Given the description of an element on the screen output the (x, y) to click on. 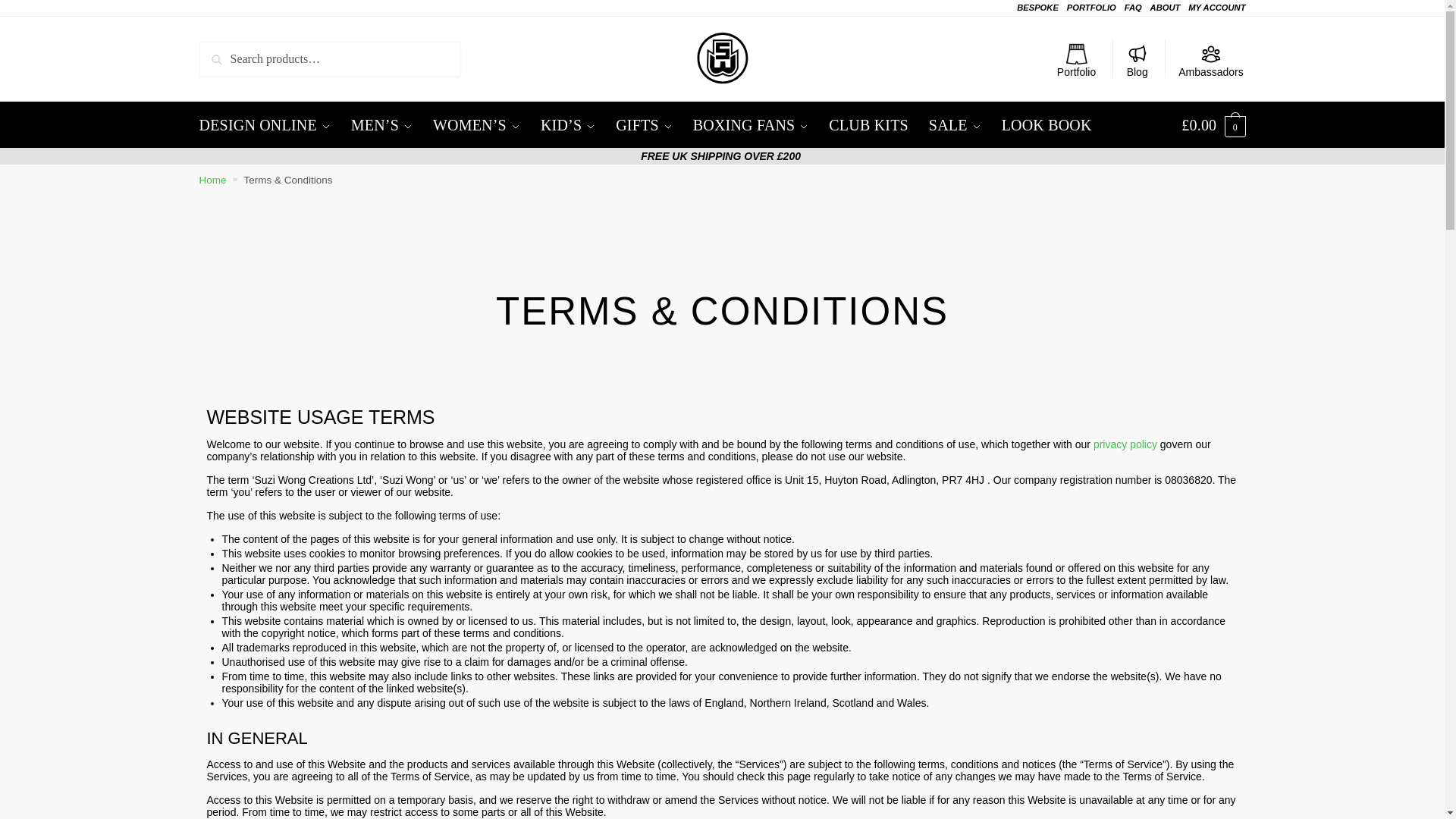
Ambassadors (1210, 58)
View your shopping cart (1212, 125)
MY ACCOUNT (1216, 8)
DESIGN ONLINE (267, 125)
ABOUT (1165, 8)
SEARCH (242, 51)
FAQ (1132, 8)
PORTFOLIO (1091, 8)
Portfolio (1076, 58)
Blog (1136, 58)
BESPOKE (1037, 8)
